Given the description of an element on the screen output the (x, y) to click on. 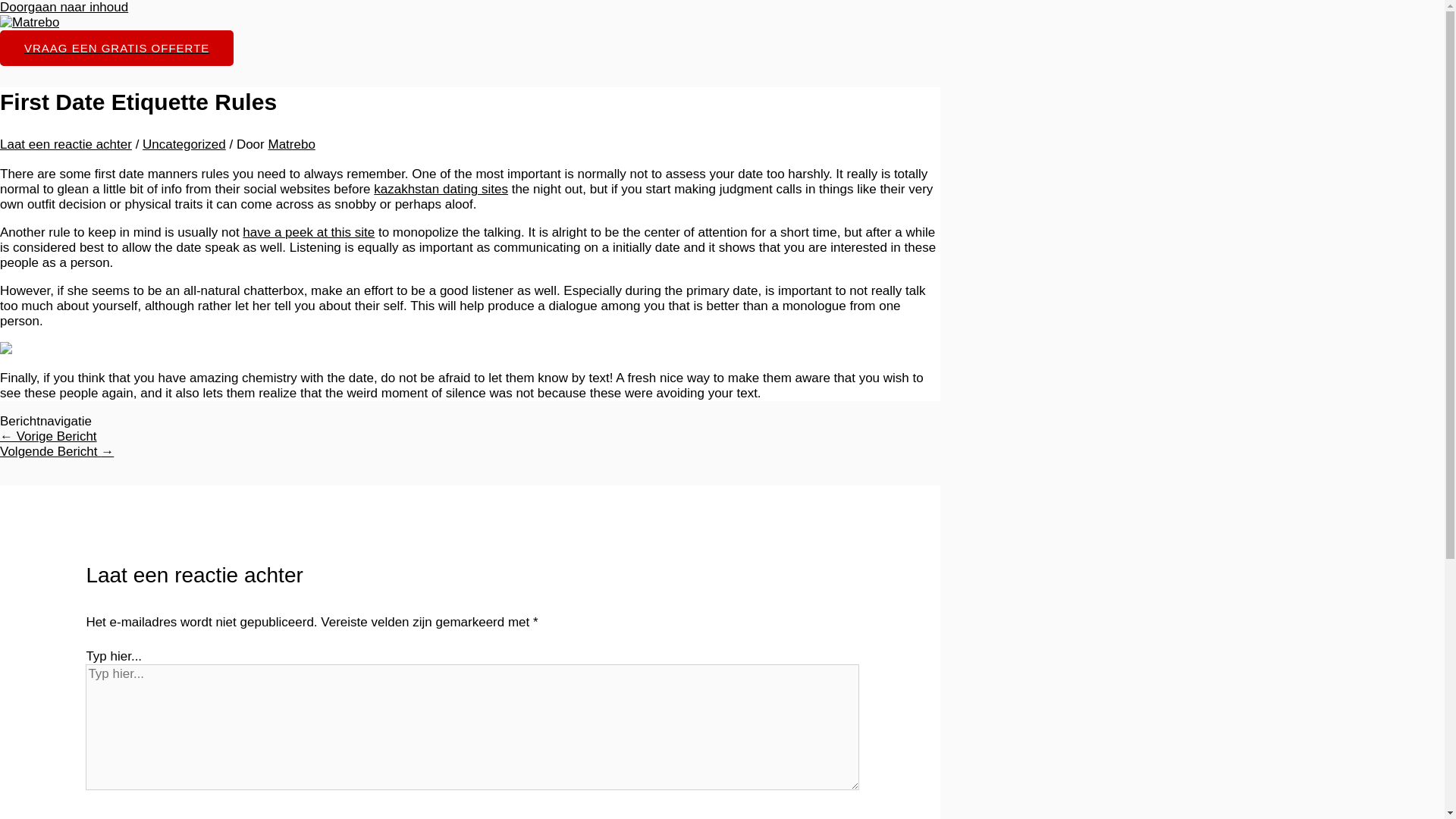
VRAAG EEN GRATIS OFFERTE (116, 48)
Doorgaan naar inhoud (64, 7)
Alle posts weergeven van Matrebo (290, 144)
Doorgaan naar inhoud (64, 7)
Laat een reactie achter (66, 144)
kazakhstan dating sites (441, 188)
Uncategorized (183, 144)
Matrebo (290, 144)
have a peek at this site (308, 232)
